Given the description of an element on the screen output the (x, y) to click on. 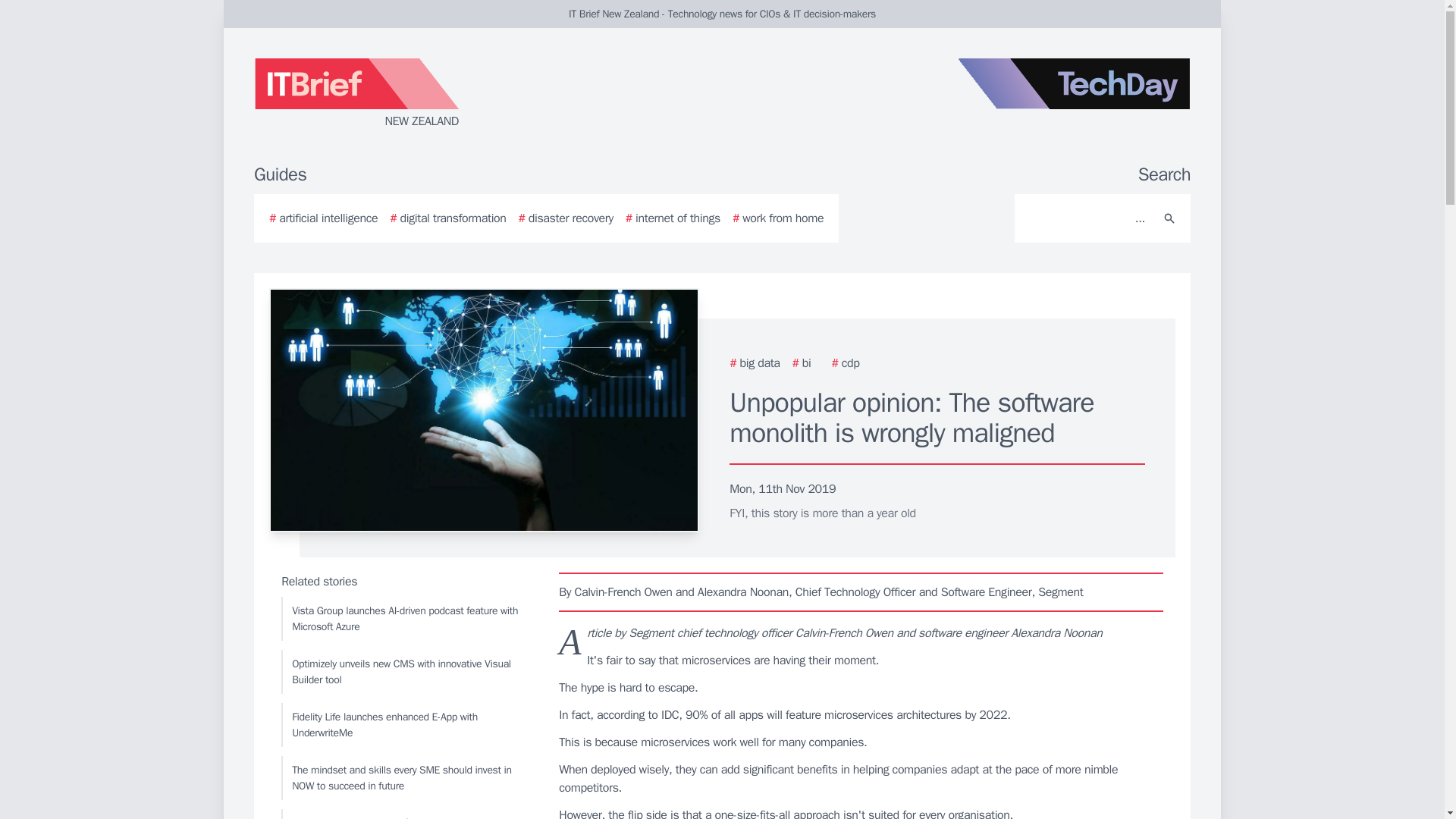
NEW ZEALAND (435, 94)
Fidelity Life launches enhanced E-App with UnderwriteMe (406, 724)
